Given the description of an element on the screen output the (x, y) to click on. 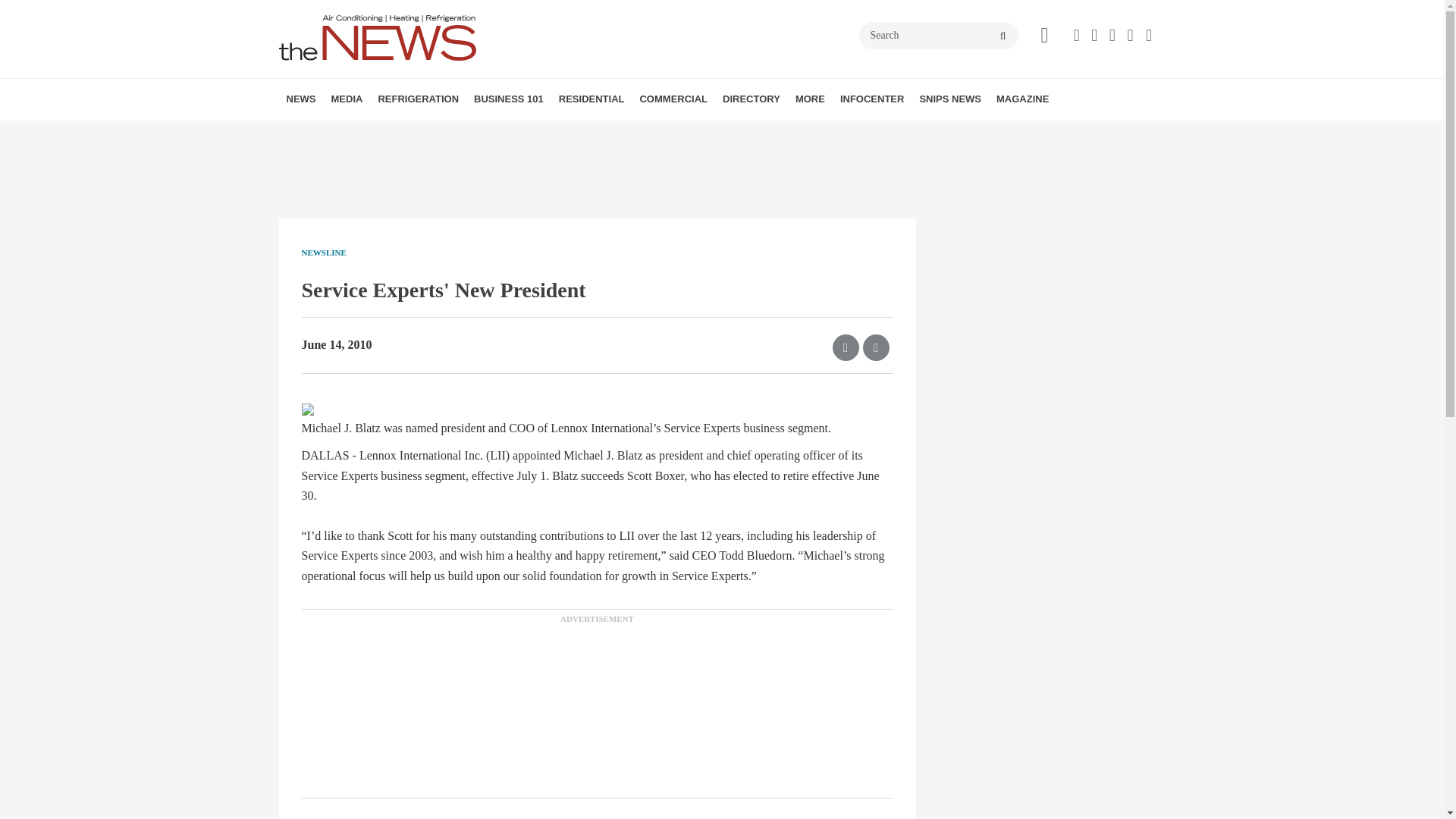
BREAKING NEWS (373, 132)
NEW HVAC PRODUCTS (380, 132)
REFRIGERANTS (464, 132)
EBOOKS (442, 132)
search (1002, 36)
THE NEWS HVACR QUIZ (445, 132)
FROSTLINES (478, 132)
Search (938, 35)
Search (938, 35)
REFRIGERANT REGULATIONS (472, 132)
